Given the description of an element on the screen output the (x, y) to click on. 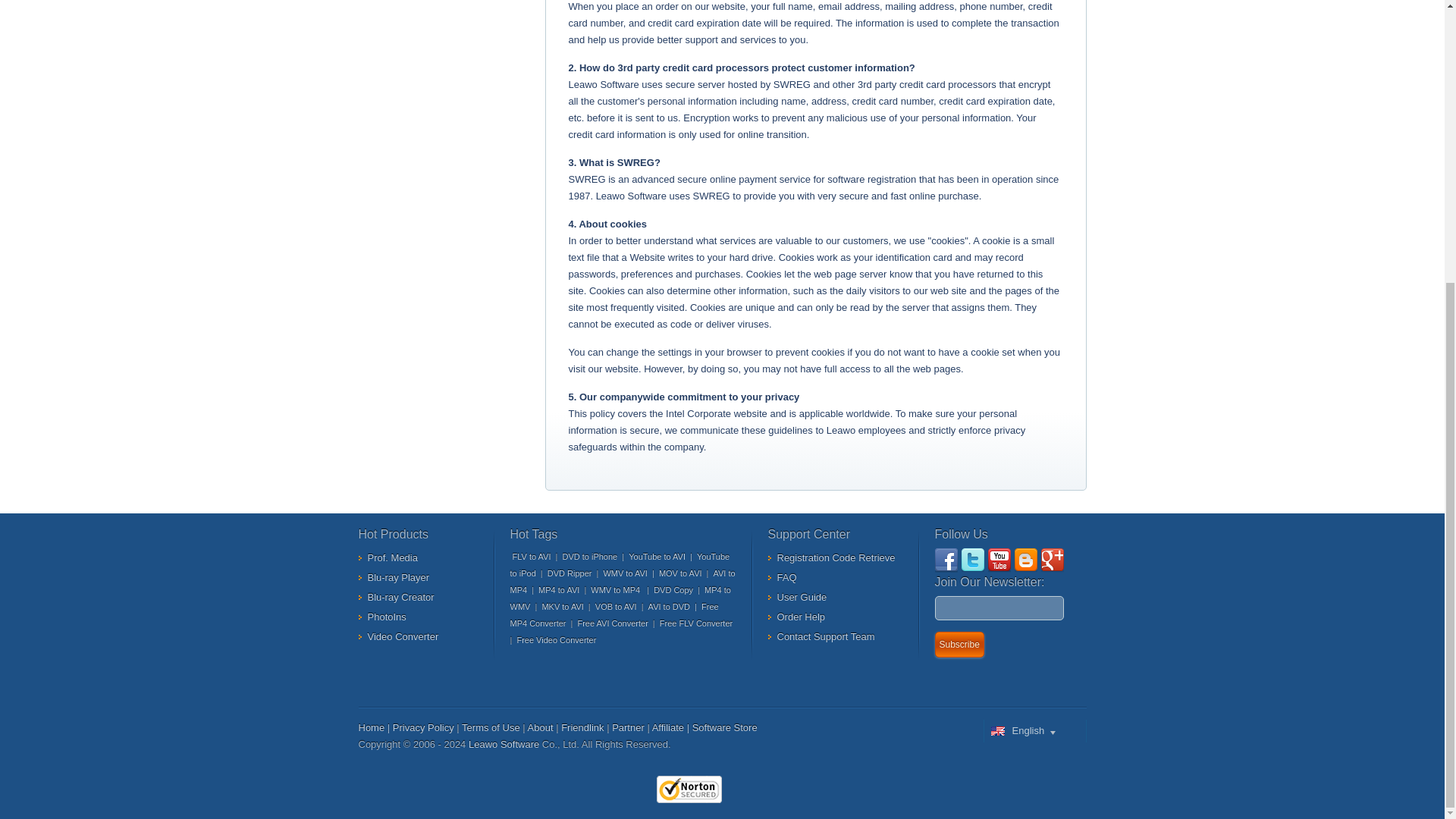
Subscribe (959, 644)
Leawo Software (503, 744)
